Given the description of an element on the screen output the (x, y) to click on. 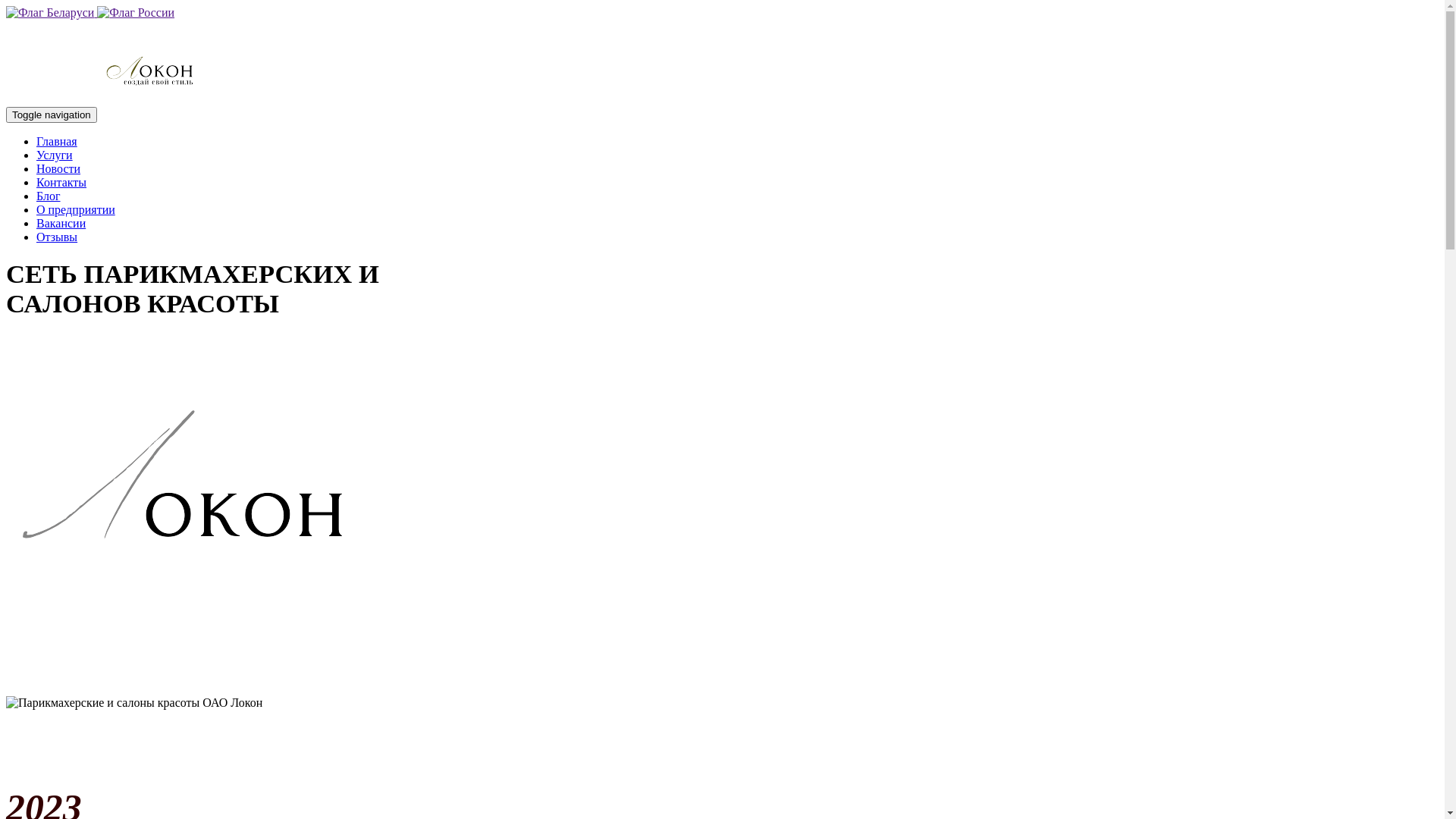
Toggle navigation Element type: text (51, 114)
